Given the description of an element on the screen output the (x, y) to click on. 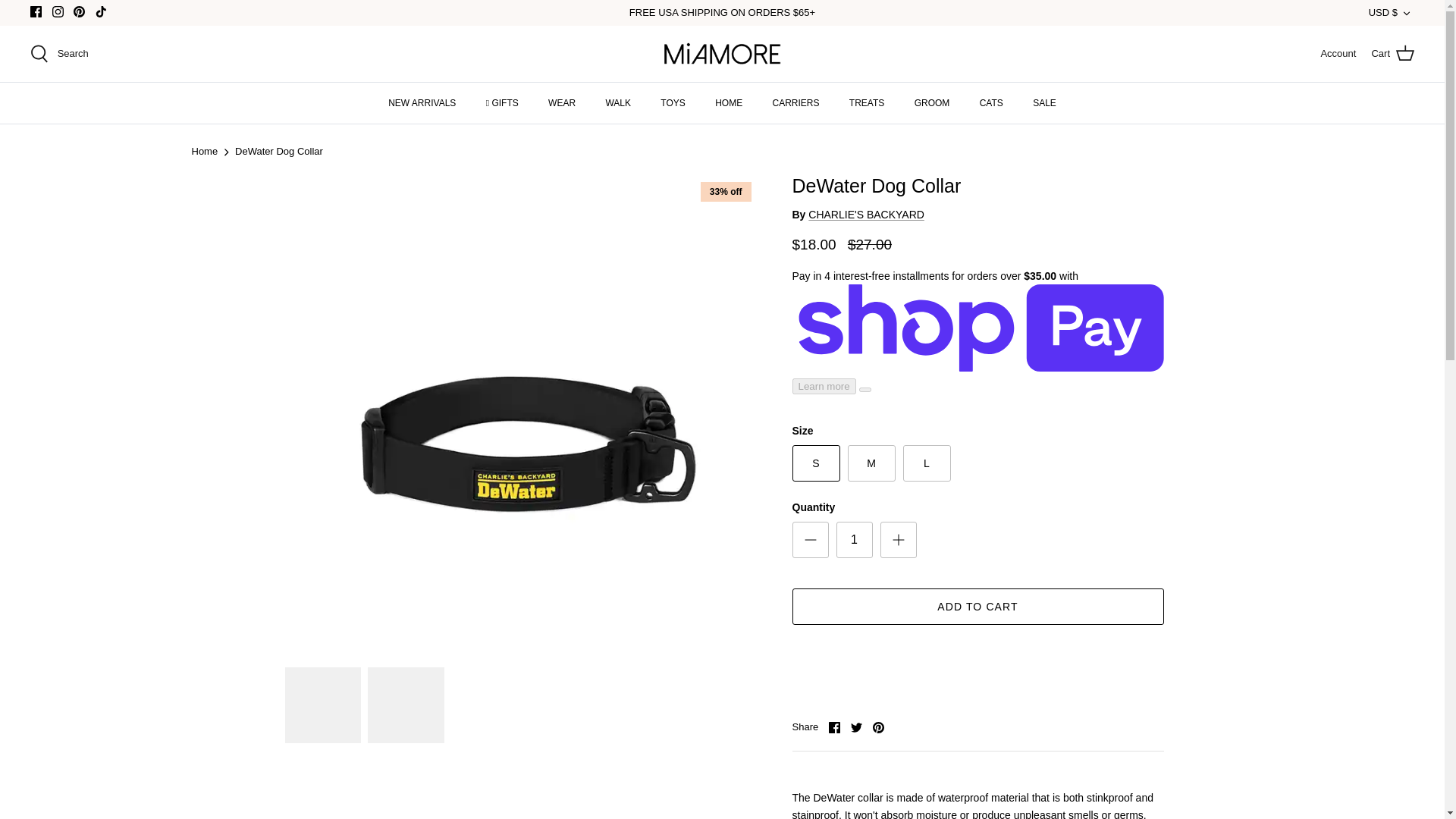
Cart (1392, 53)
Search (59, 54)
MiAMORE PETS (721, 53)
NEW ARRIVALS (421, 102)
1 (853, 539)
Account (1337, 53)
